Given the description of an element on the screen output the (x, y) to click on. 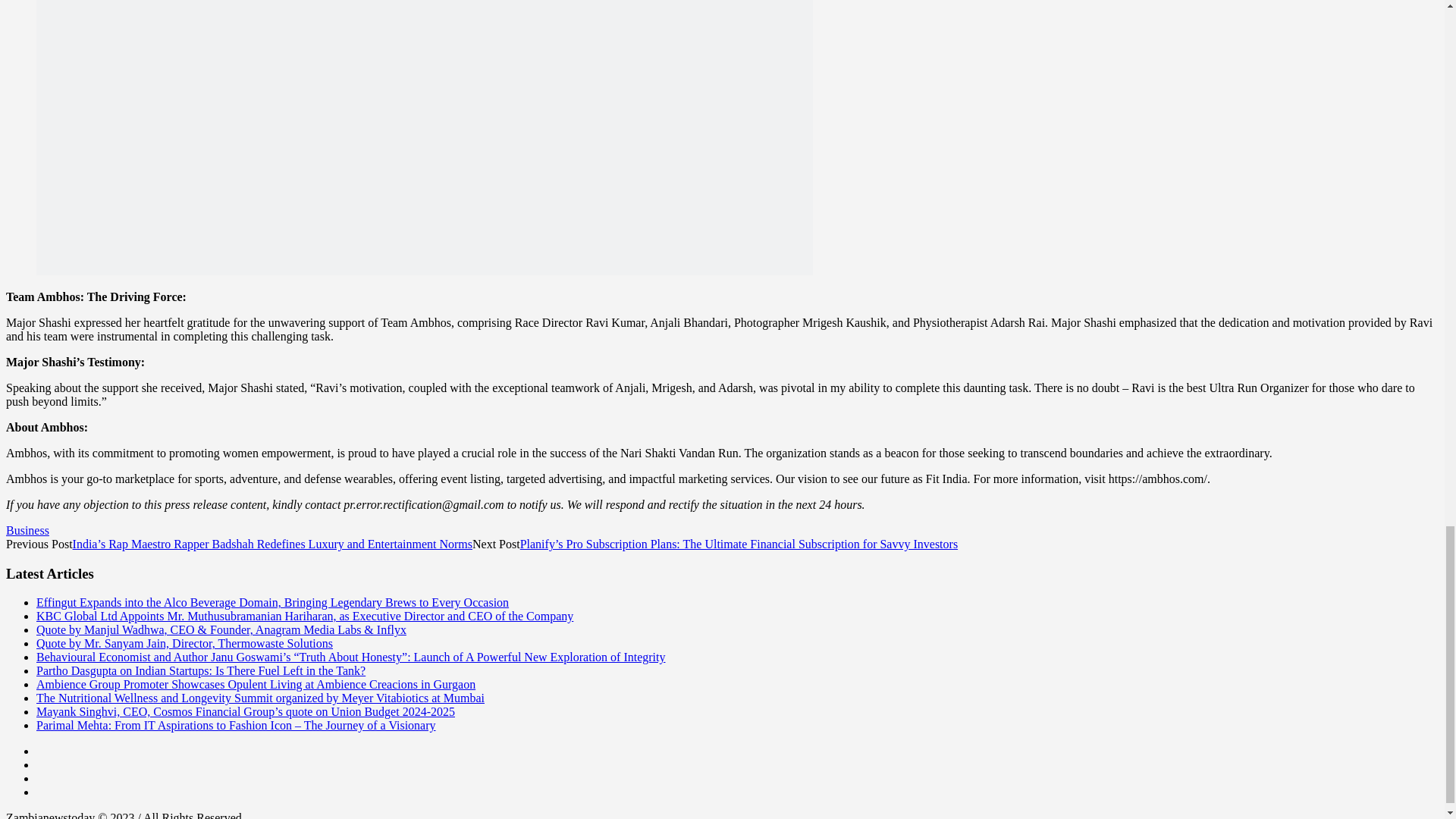
Quote by Mr. Sanyam Jain, Director, Thermowaste Solutions (184, 643)
Business (27, 530)
